Given the description of an element on the screen output the (x, y) to click on. 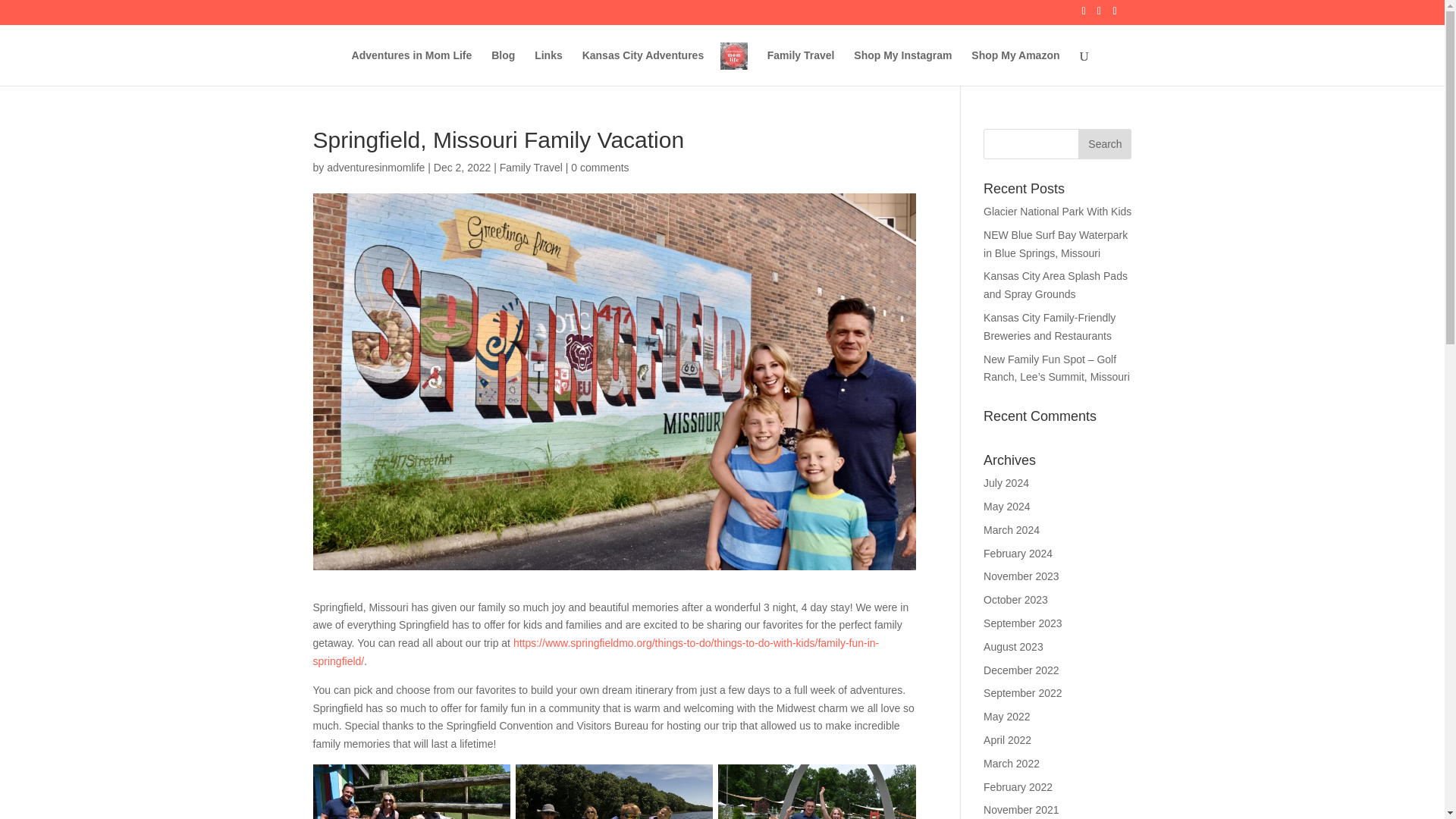
Glacier National Park With Kids (1057, 211)
September 2022 (1023, 693)
Kansas City Area Splash Pads and Spray Grounds (1055, 285)
September 2023 (1023, 623)
May 2022 (1006, 716)
Kansas City Adventures (643, 67)
May 2024 (1006, 506)
Shop My Amazon (1015, 67)
Adventures in Mom Life (411, 67)
November 2023 (1021, 576)
October 2023 (1016, 599)
NEW Blue Surf Bay Waterpark in Blue Springs, Missouri (1055, 244)
0 comments (599, 167)
Shop My Instagram (902, 67)
July 2024 (1006, 482)
